Given the description of an element on the screen output the (x, y) to click on. 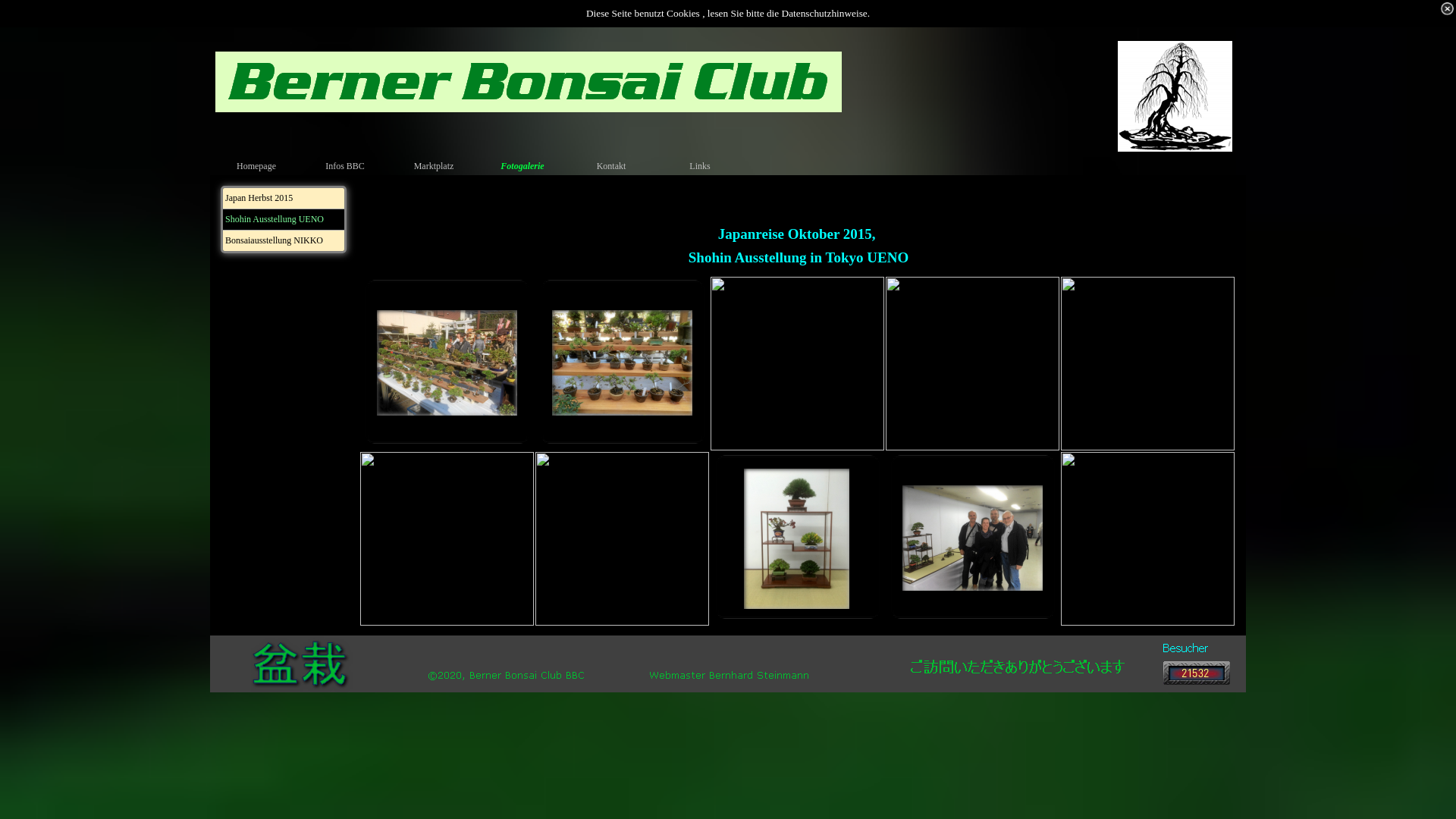
Besucherzaehler Element type: hover (1196, 677)
Japan Herbst 2015 Element type: text (283, 198)
Links Element type: text (701, 165)
Bonsaiausstellung NIKKO Element type: text (283, 240)
Shohin Ausstellung UENO Element type: text (283, 219)
Homepage Element type: text (257, 165)
